Given the description of an element on the screen output the (x, y) to click on. 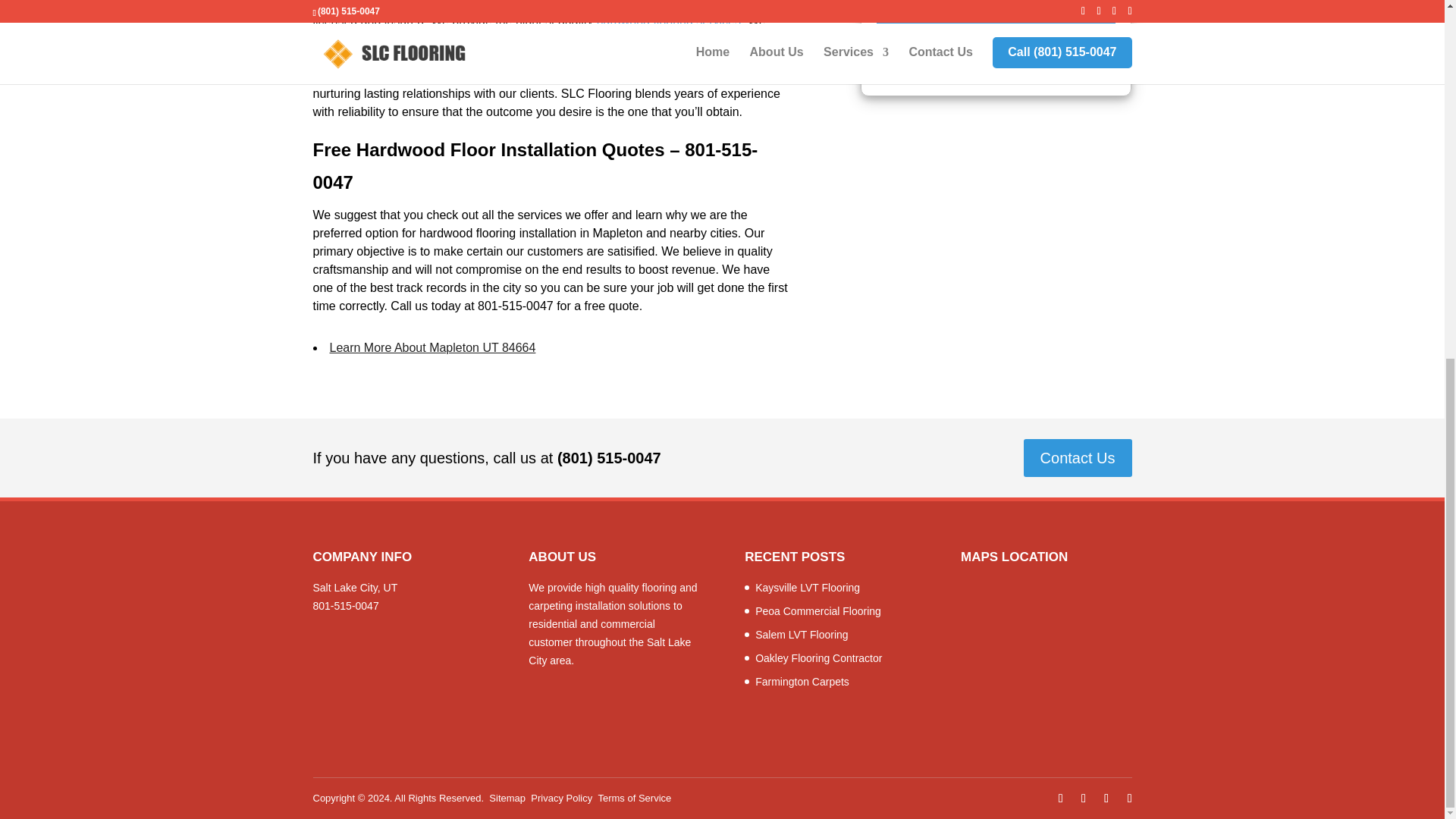
hardwood flooring services (668, 20)
Learn More About Mapleton UT 84664 (432, 347)
